Given the description of an element on the screen output the (x, y) to click on. 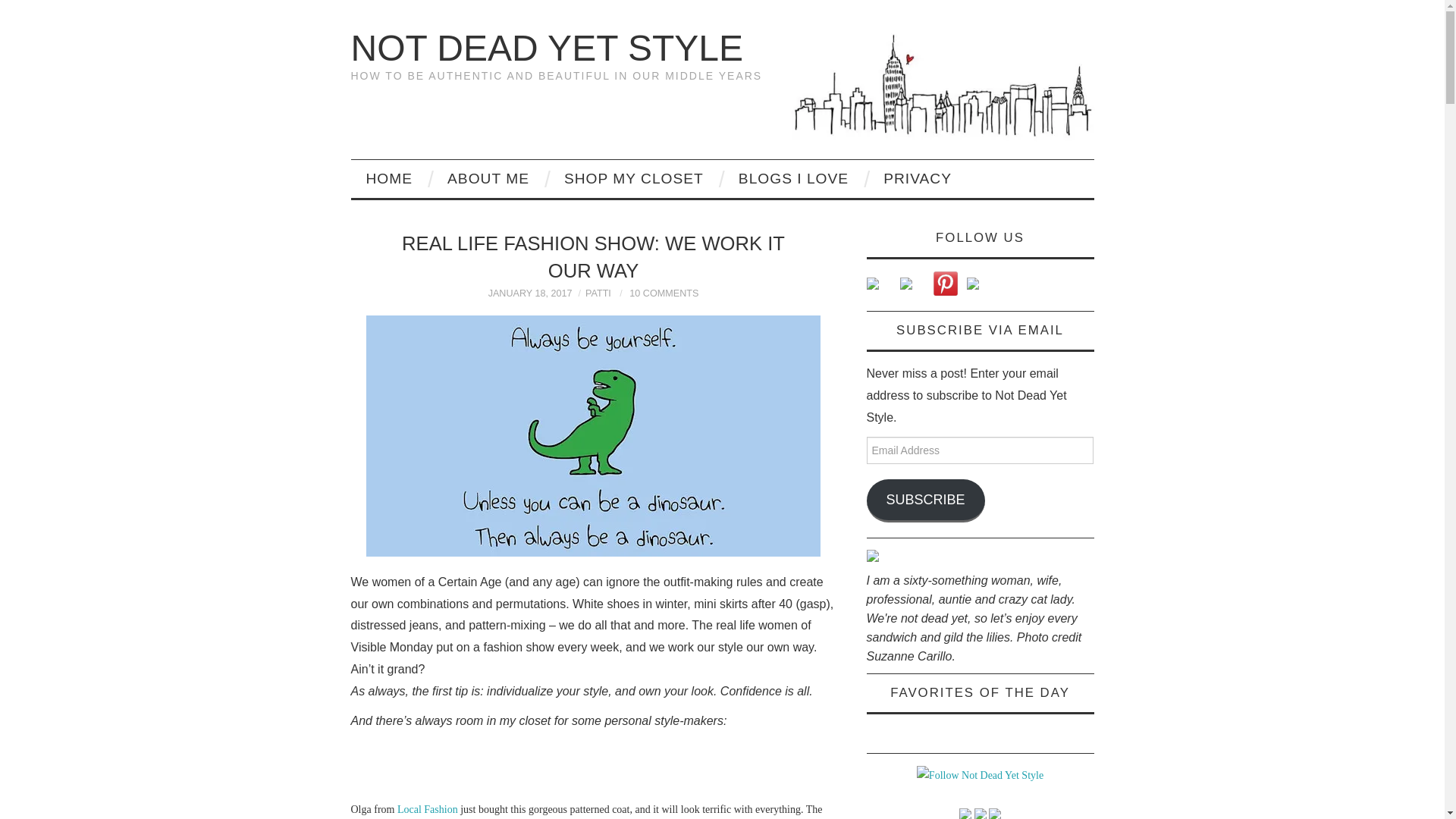
Local Fashion (427, 808)
Not Dead Yet Style (546, 47)
JANUARY 18, 2017 (529, 293)
ABOUT ME (488, 178)
BLOGS I LOVE (793, 178)
PATTI (598, 293)
SHOP MY CLOSET (633, 178)
HOME (389, 178)
10 COMMENTS (663, 293)
NOT DEAD YET STYLE (546, 47)
PRIVACY (916, 178)
